Given the description of an element on the screen output the (x, y) to click on. 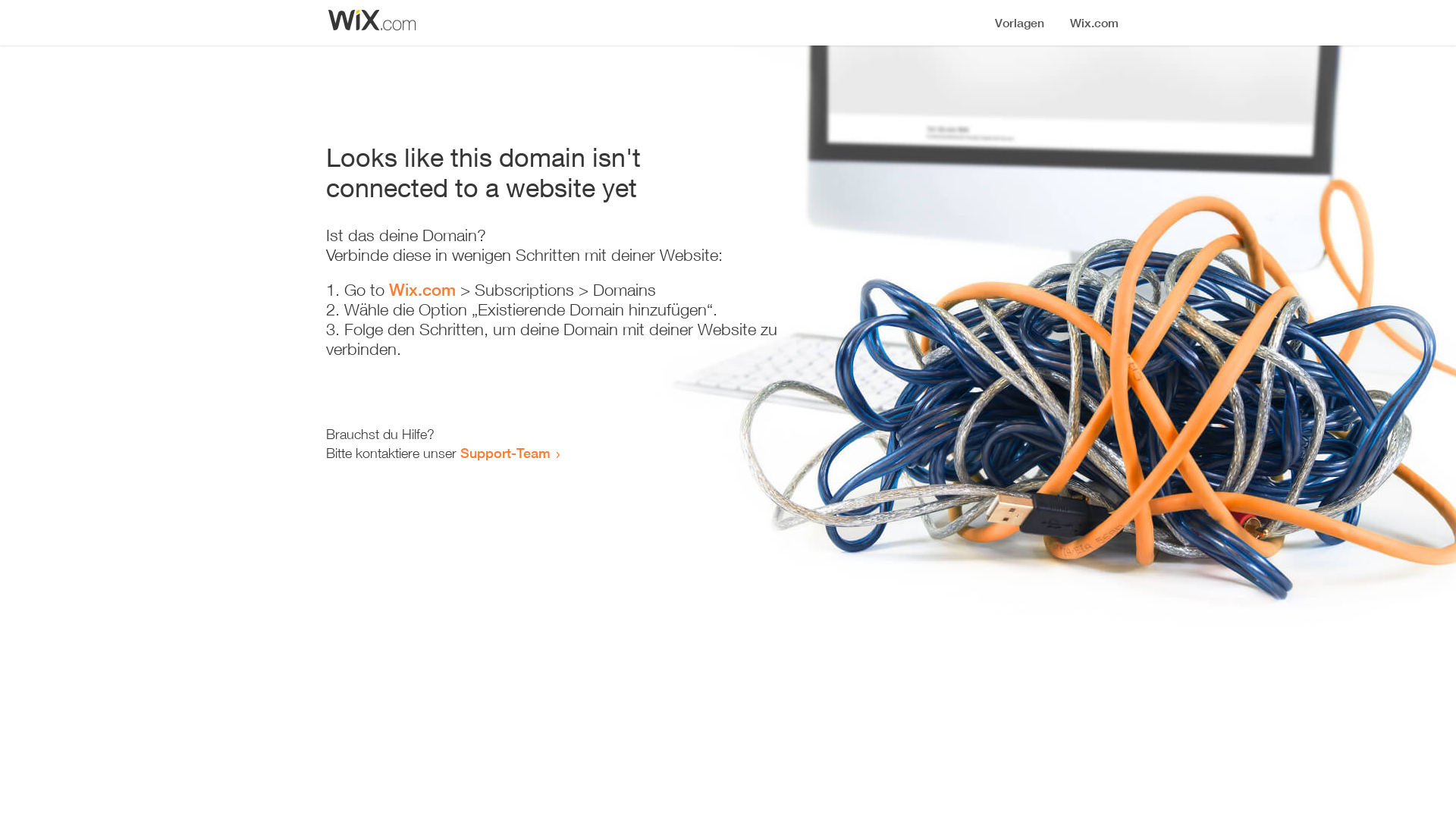
Support-Team Element type: text (505, 452)
Wix.com Element type: text (422, 289)
